Given the description of an element on the screen output the (x, y) to click on. 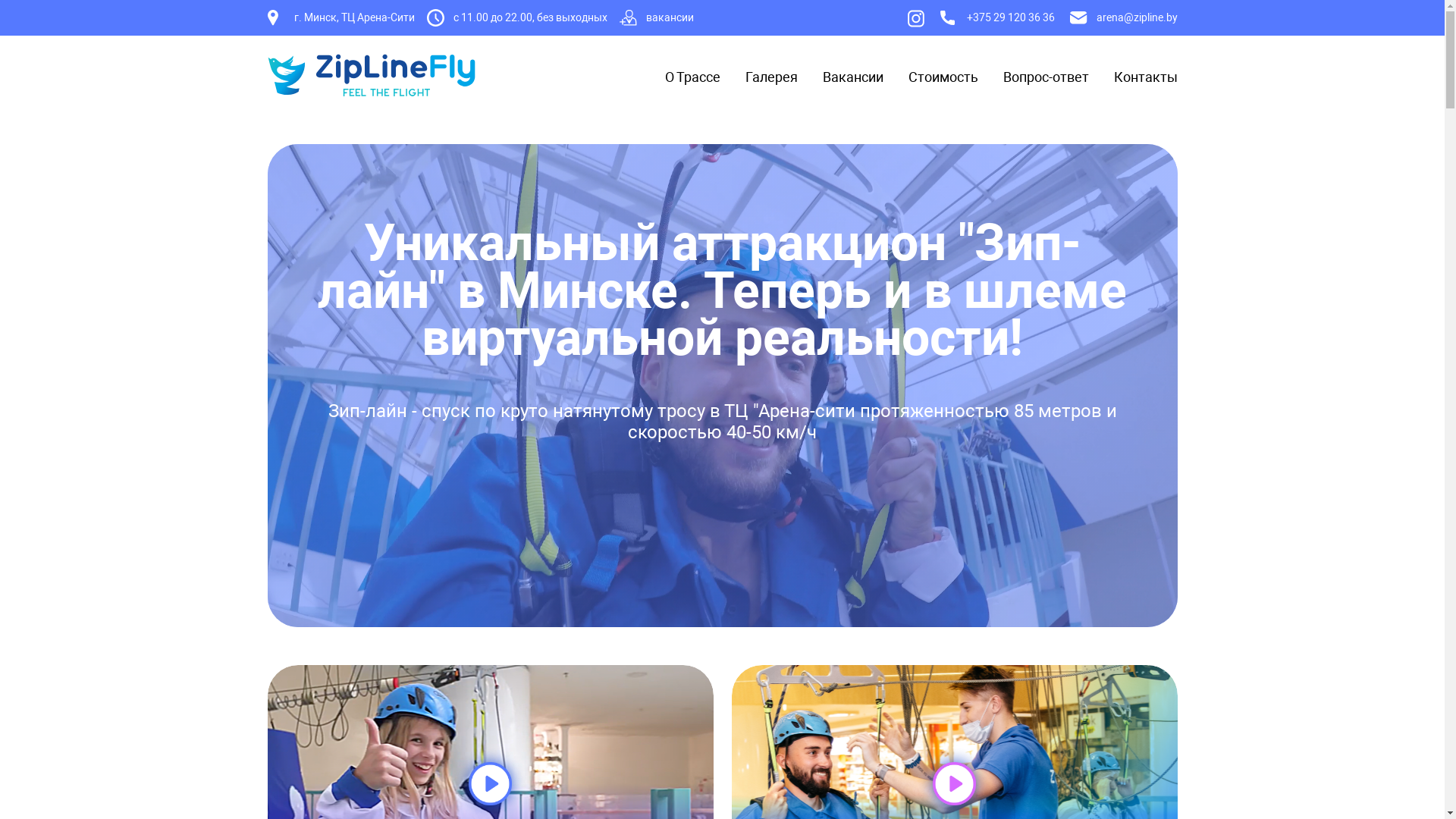
arena@zipline.by Element type: text (1122, 17)
+375 29 120 36 36 Element type: text (997, 17)
